Given the description of an element on the screen output the (x, y) to click on. 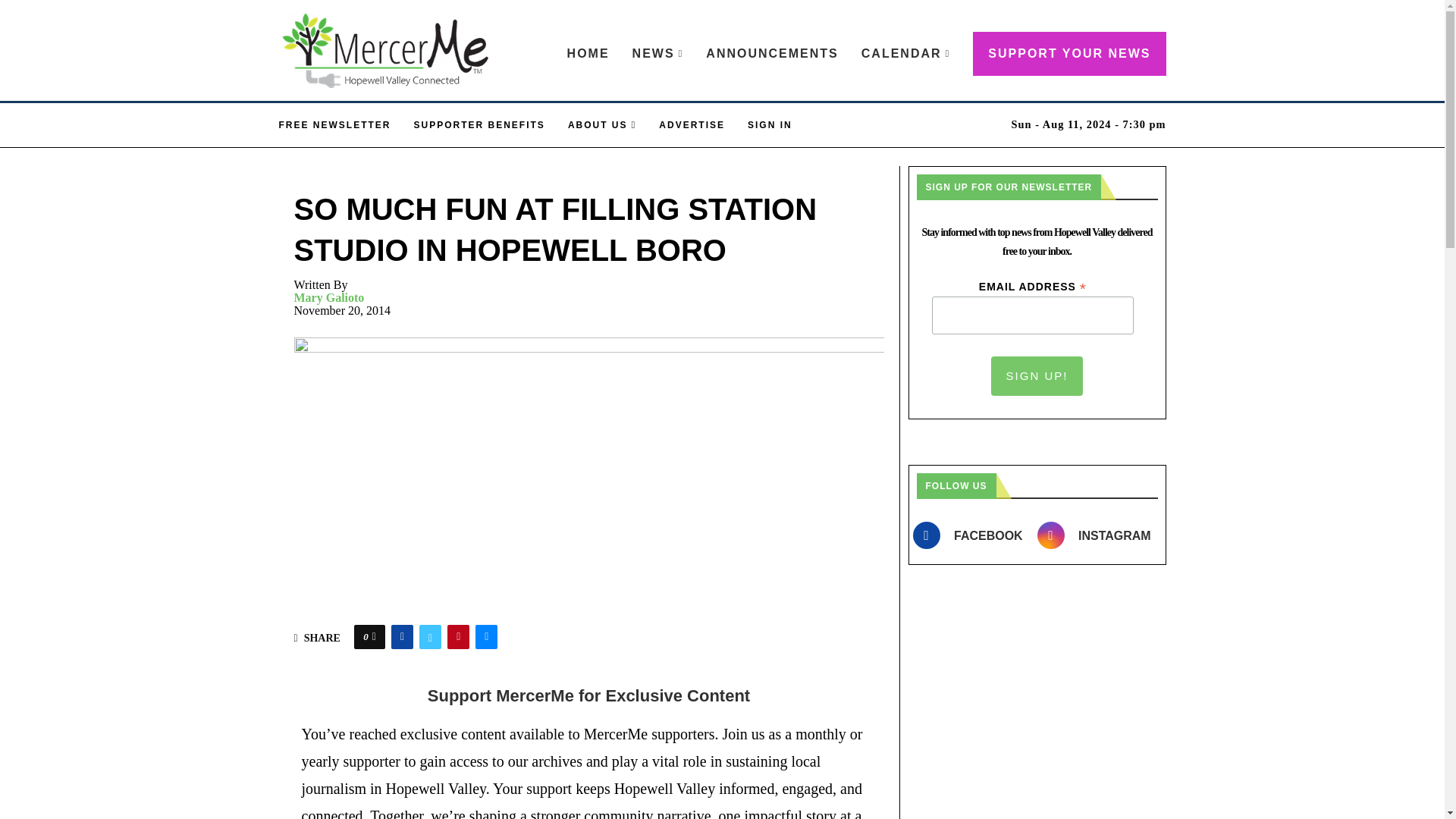
SUPPORTER BENEFITS (478, 125)
NEWS (657, 53)
Sign Up! (1037, 375)
HOME (588, 53)
Support Your News (1069, 53)
SUPPORT YOUR NEWS (1069, 53)
CALENDAR (905, 53)
FREE NEWSLETTER (335, 125)
ANNOUNCEMENTS (772, 53)
ABOUT US (601, 125)
